Given the description of an element on the screen output the (x, y) to click on. 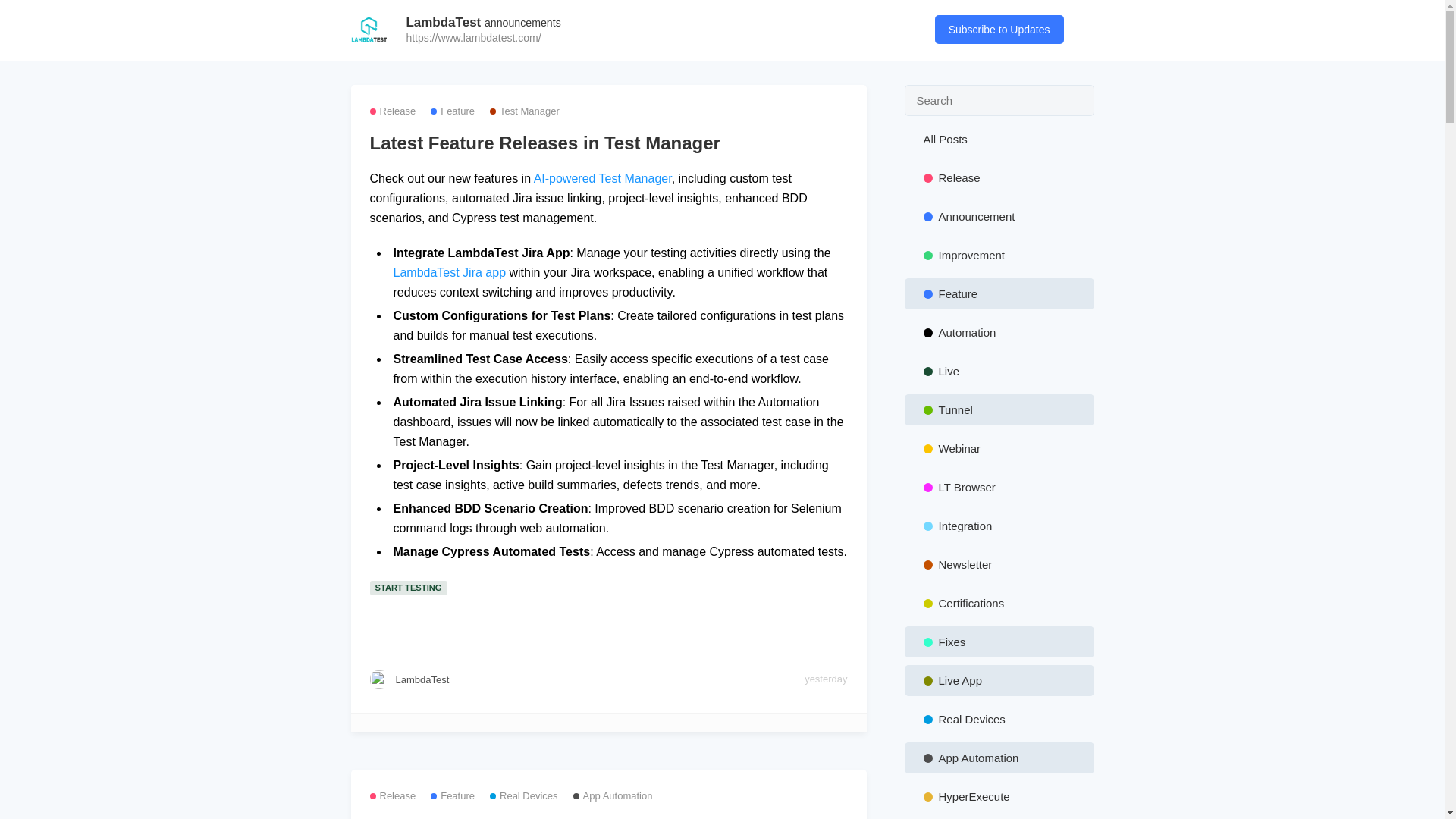
Subscribe to Updates (999, 29)
Latest Feature Releases in Test Manager (608, 142)
LambdaTest announcements (483, 22)
yesterday (826, 679)
AI-powered Test Manager (602, 178)
LambdaTest Jira app (449, 272)
Subscribe to Updates (930, 215)
START TESTING (410, 585)
